Given the description of an element on the screen output the (x, y) to click on. 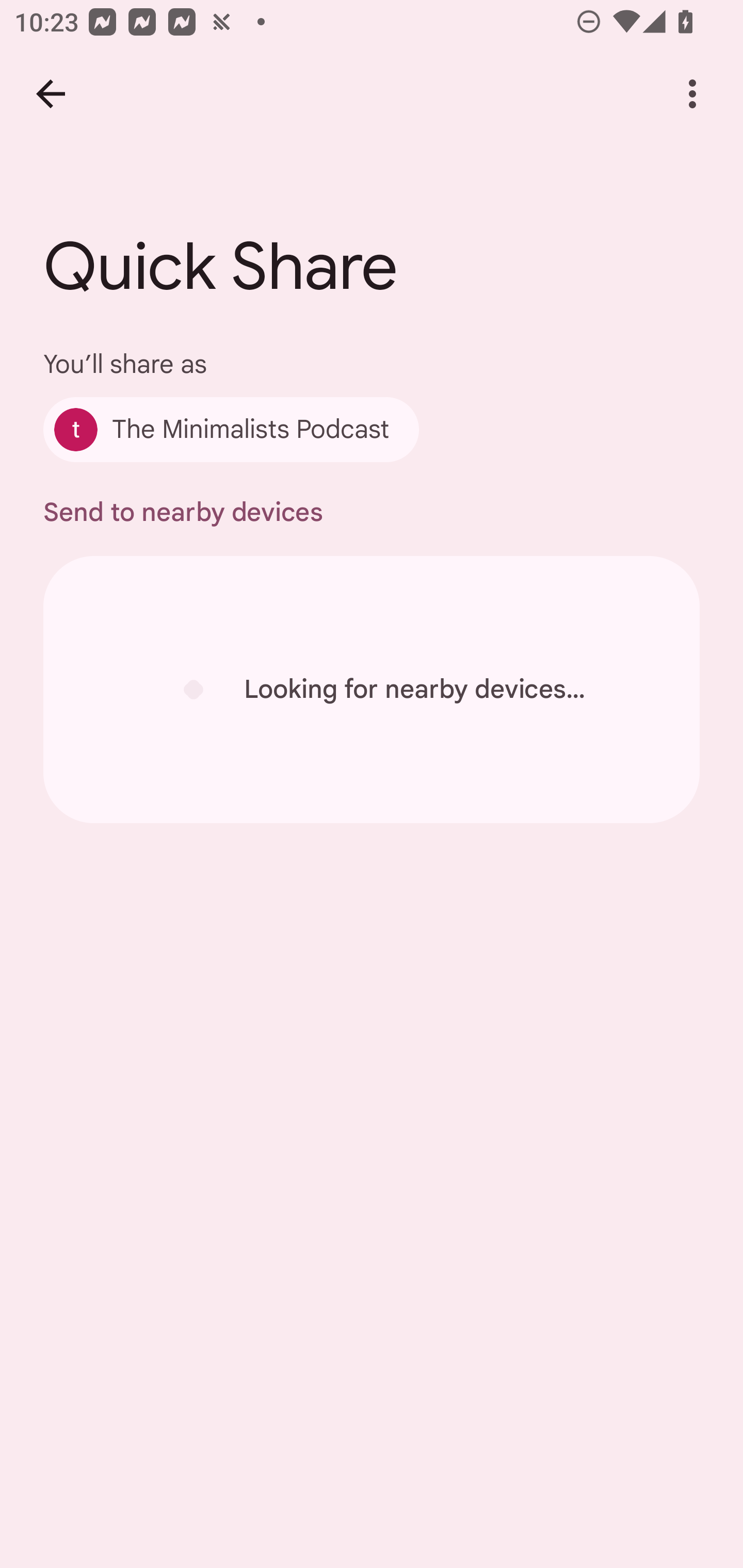
Back (50, 93)
More (692, 93)
The Minimalists Podcast (231, 429)
